Given the description of an element on the screen output the (x, y) to click on. 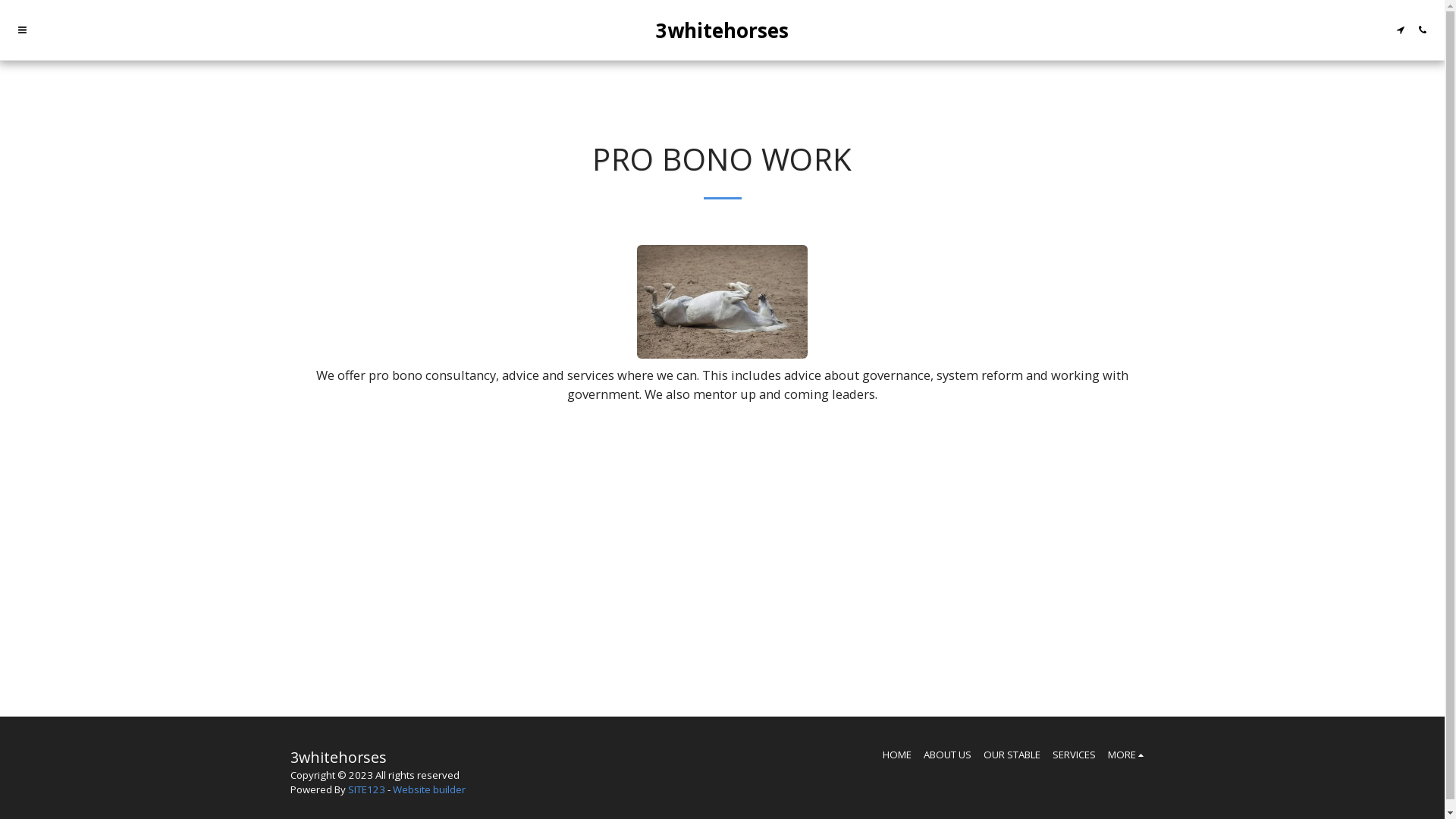
  Element type: text (1422, 29)
Website builder Element type: text (428, 789)
  Element type: text (22, 29)
3whitehorses Element type: text (721, 30)
SITE123 Element type: text (365, 789)
ABOUT US Element type: text (947, 754)
OUR STABLE Element type: text (1011, 754)
HOME Element type: text (896, 754)
  Element type: text (1400, 29)
MORE   Element type: text (1127, 754)
SERVICES Element type: text (1073, 754)
